Given the description of an element on the screen output the (x, y) to click on. 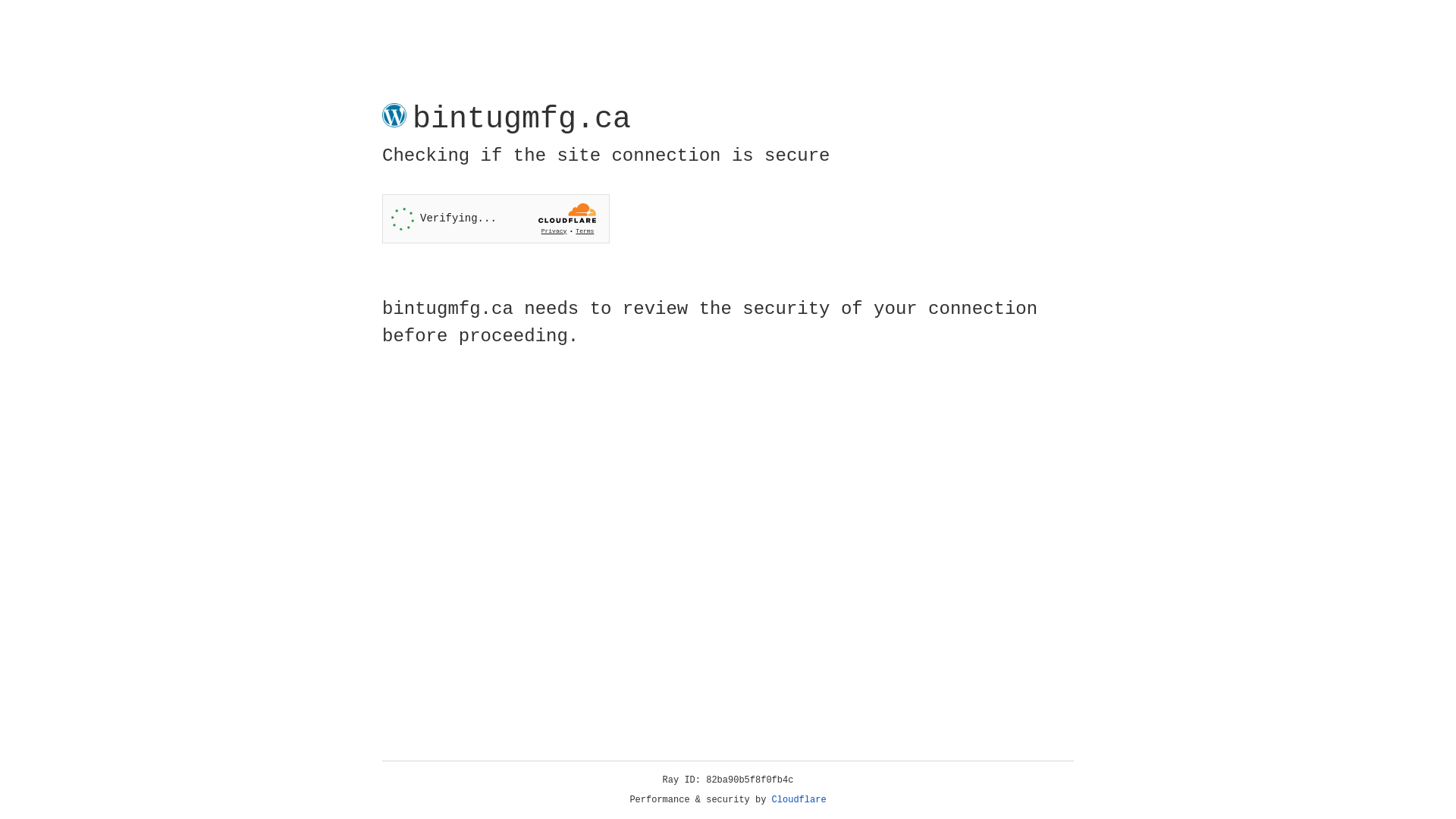
Widget containing a Cloudflare security challenge Element type: hover (495, 218)
Cloudflare Element type: text (798, 799)
